Given the description of an element on the screen output the (x, y) to click on. 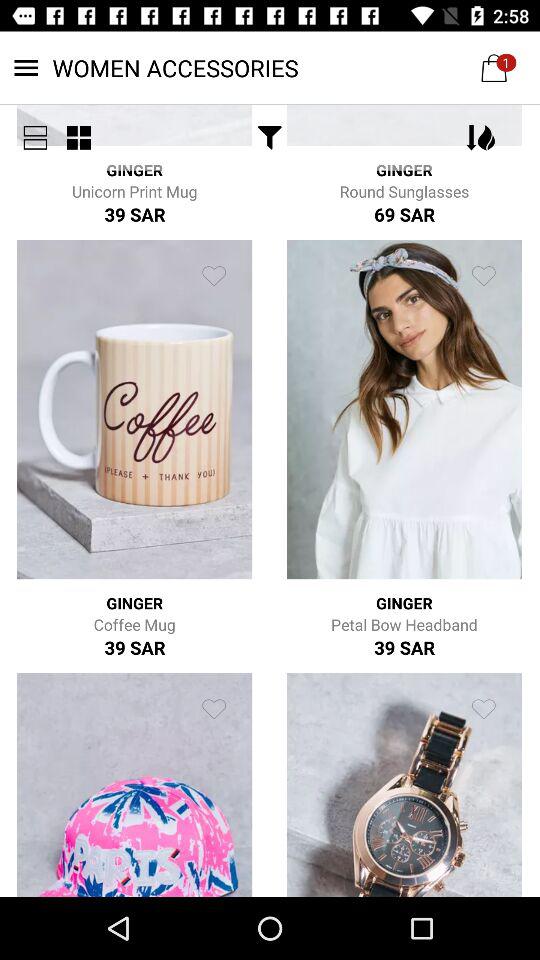
tap the icon below the women accessories item (269, 137)
